Given the description of an element on the screen output the (x, y) to click on. 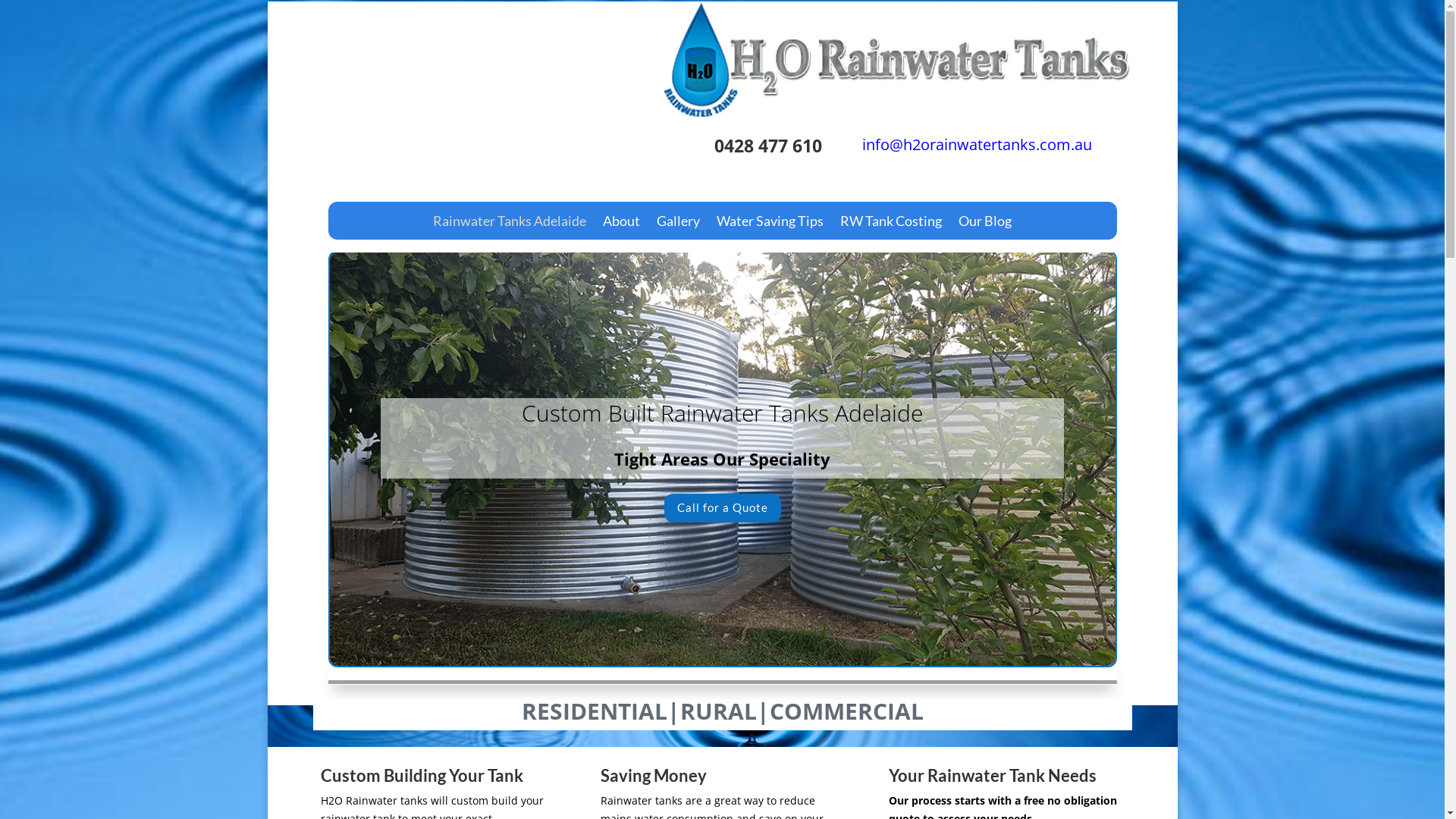
3 Element type: text (734, 634)
Call for a Quote Element type: text (722, 508)
Gallery Element type: text (677, 223)
Rainwater Tanks Adelaide Element type: text (509, 223)
0428 477 610 Element type: text (768, 145)
Our Blog Element type: text (984, 223)
RW Tank Costing Element type: text (890, 223)
logo1nophonenolge Element type: hover (898, 59)
1 Element type: text (709, 634)
 info@h2orainwatertanks.com.au Element type: text (975, 144)
2 Element type: text (721, 634)
Water Saving Tips Element type: text (769, 223)
Custom Built Rainwater Tanks Adelaide Element type: text (721, 412)
About Element type: text (621, 223)
